Given the description of an element on the screen output the (x, y) to click on. 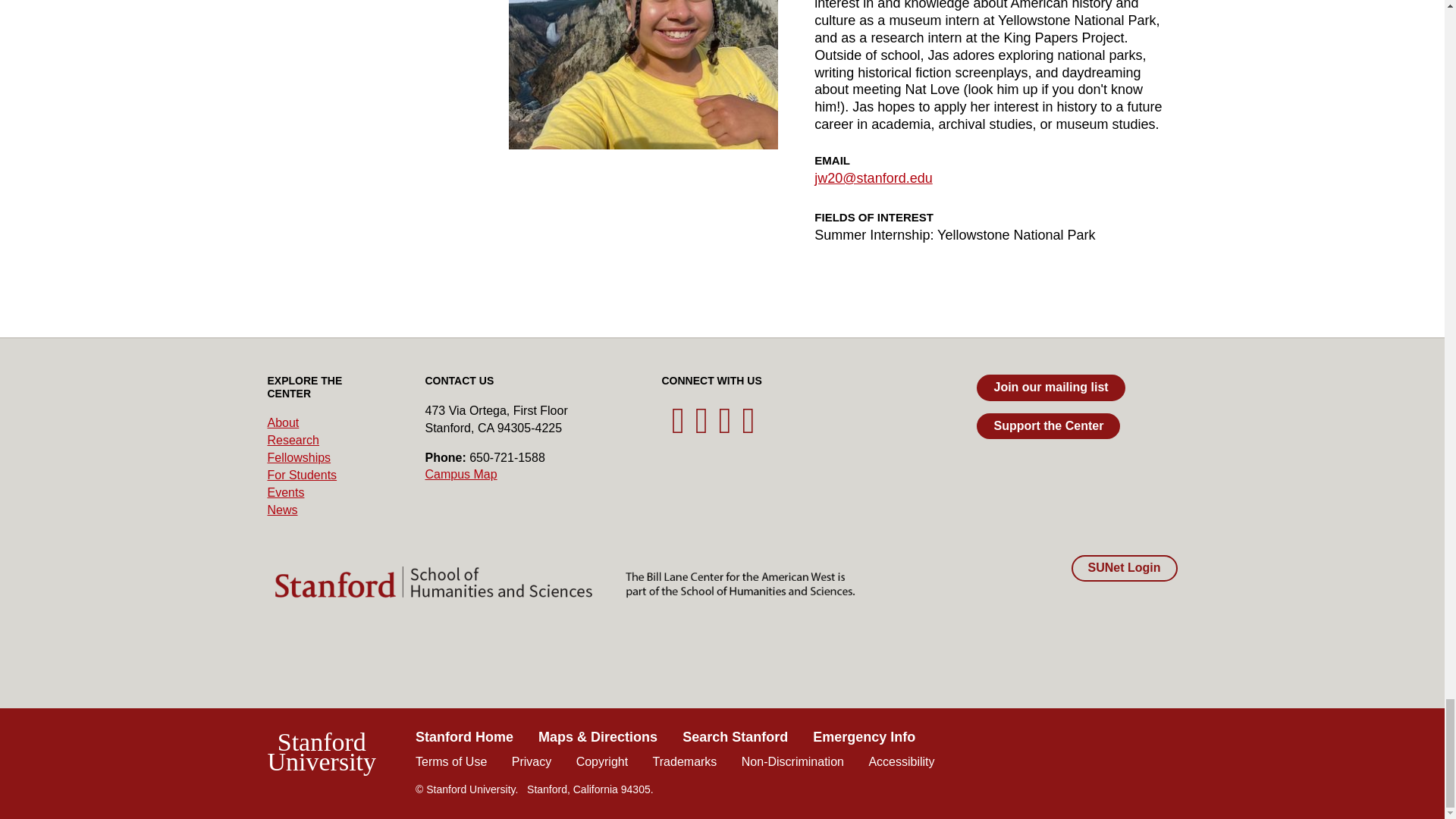
Report alleged copyright infringement (601, 761)
Terms of use for sites (450, 761)
West YouTube Channel (725, 428)
West Instagram (702, 428)
West Twitter (678, 428)
Non-discrimination policy (792, 761)
Privacy and cookie policy (531, 761)
West Flickr (748, 428)
Ownership and use of Stanford trademarks and images (684, 761)
Report web accessibility issues (900, 761)
